Given the description of an element on the screen output the (x, y) to click on. 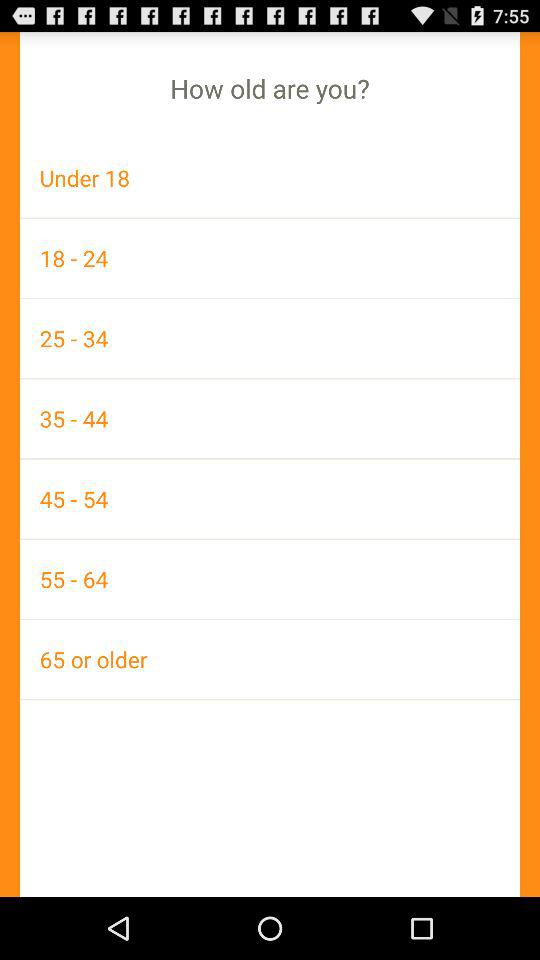
open 18 - 24 app (269, 258)
